Given the description of an element on the screen output the (x, y) to click on. 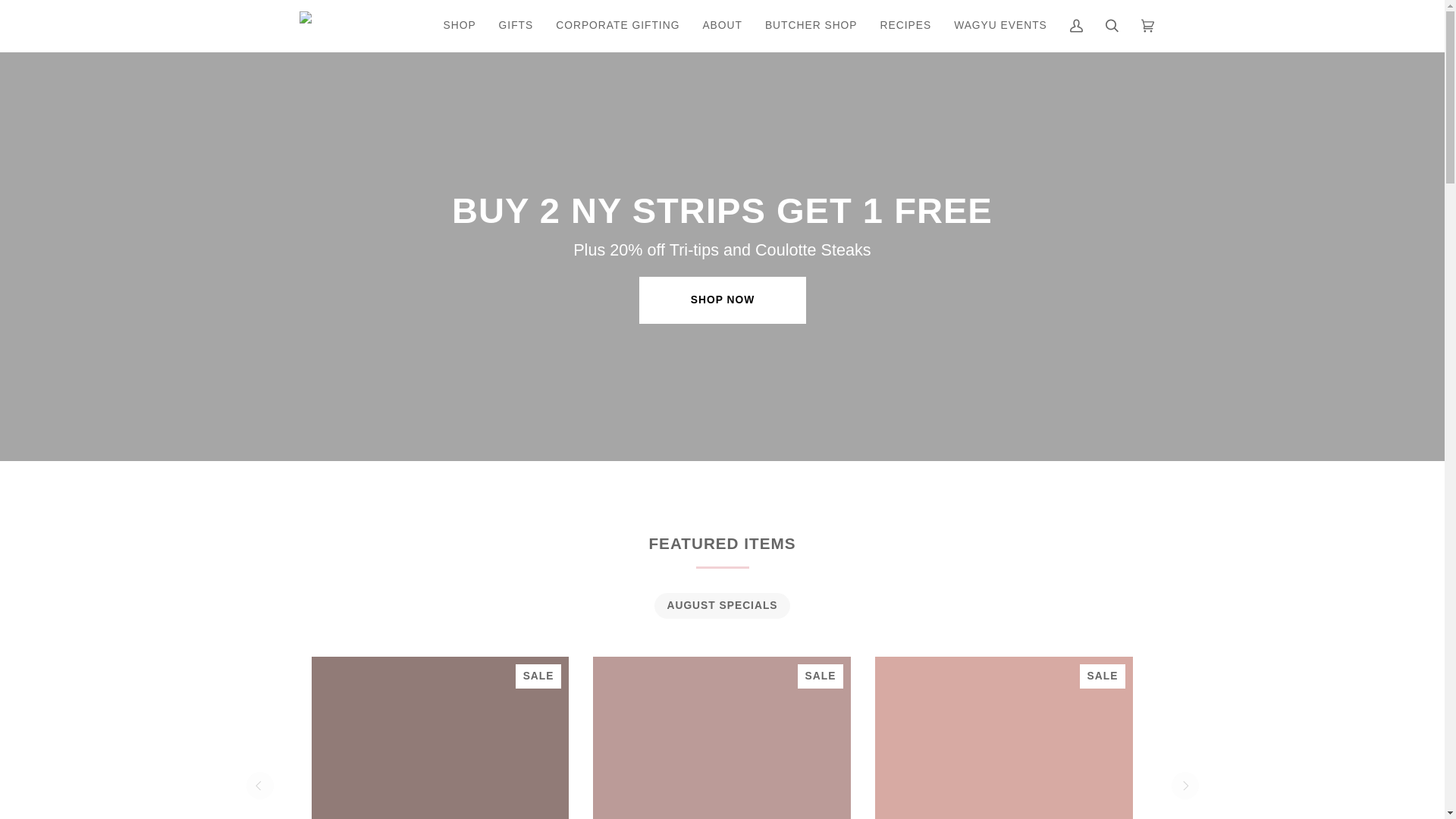
CORPORATE GIFTING (617, 26)
SHOP (459, 26)
RECIPES (906, 26)
AUGUST SPECIALS (721, 605)
GIFTS (515, 26)
WAGYU EVENTS (1000, 26)
BUTCHER SHOP (811, 26)
ABOUT (722, 26)
